Given the description of an element on the screen output the (x, y) to click on. 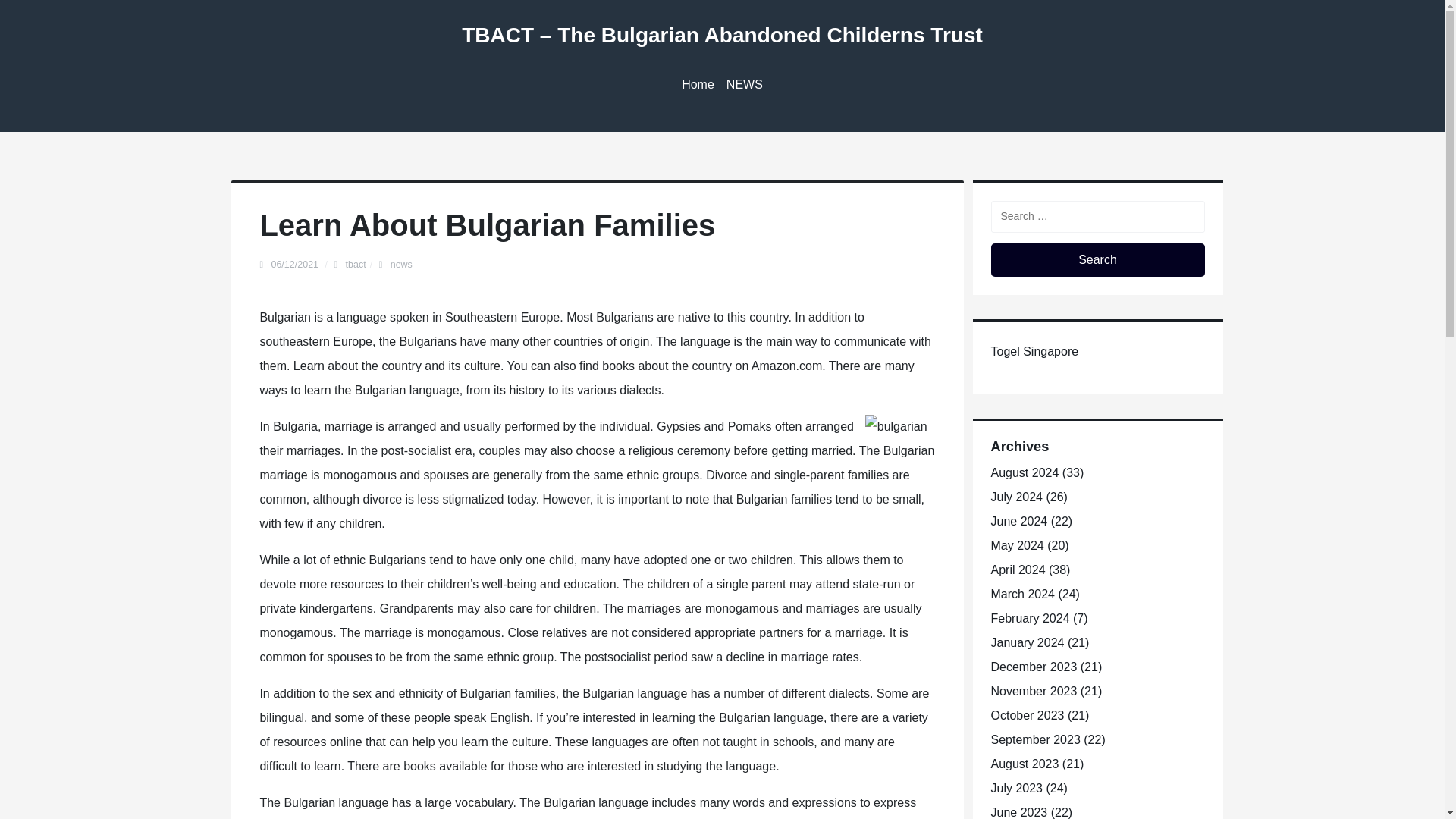
NEWS (744, 84)
August 2023 (1024, 763)
July 2023 (1016, 788)
July 2024 (1016, 496)
November 2023 (1033, 690)
May 2024 (1016, 545)
October 2023 (1027, 715)
tbact (356, 264)
Togel Singapore (1034, 350)
April 2024 (1017, 569)
